Given the description of an element on the screen output the (x, y) to click on. 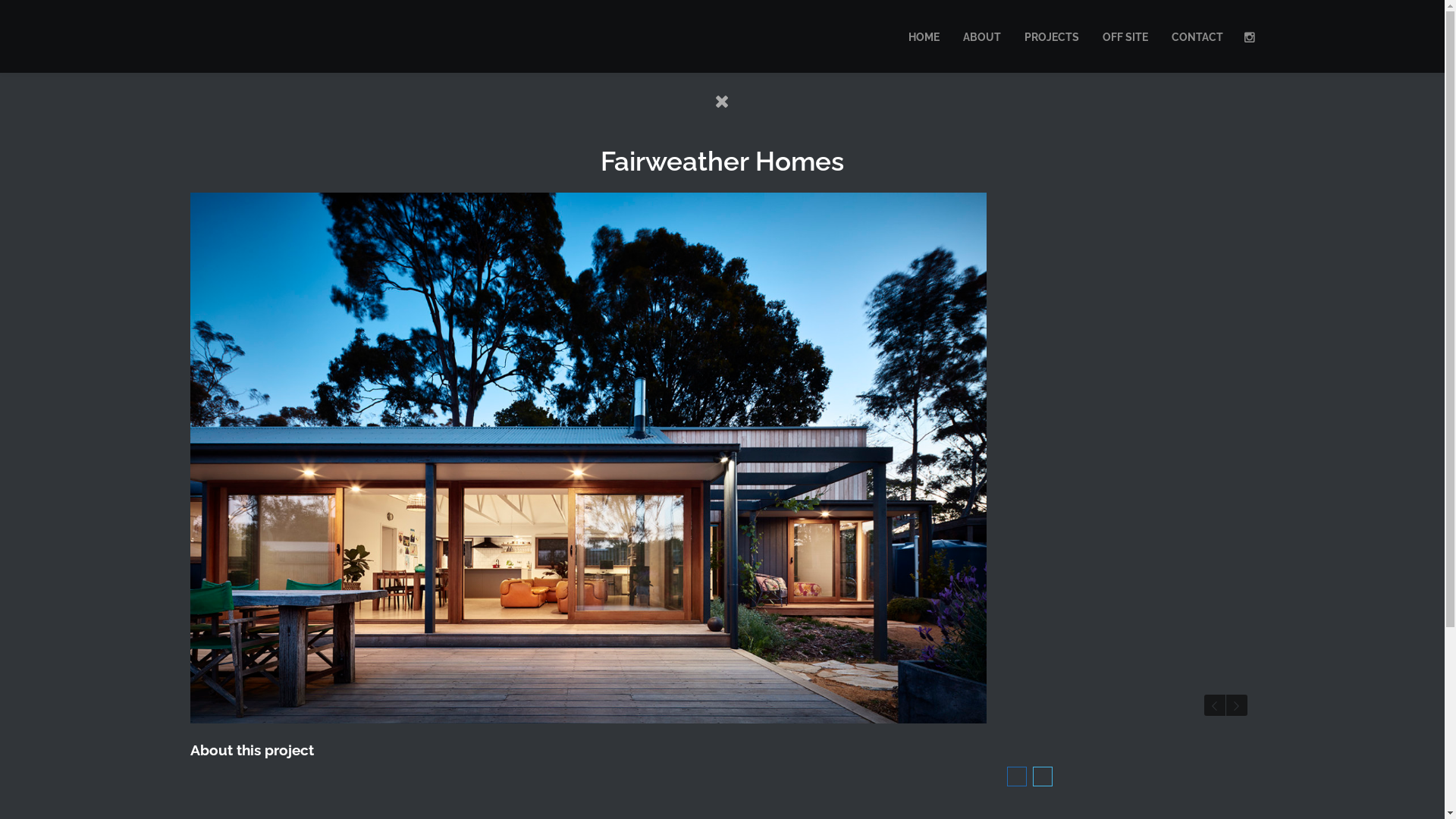
OFF SITE Element type: text (1124, 36)
HOME Element type: text (923, 36)
PROJECTS Element type: text (1051, 36)
CONTACT Element type: text (1197, 36)
ABOUT Element type: text (980, 36)
